Given the description of an element on the screen output the (x, y) to click on. 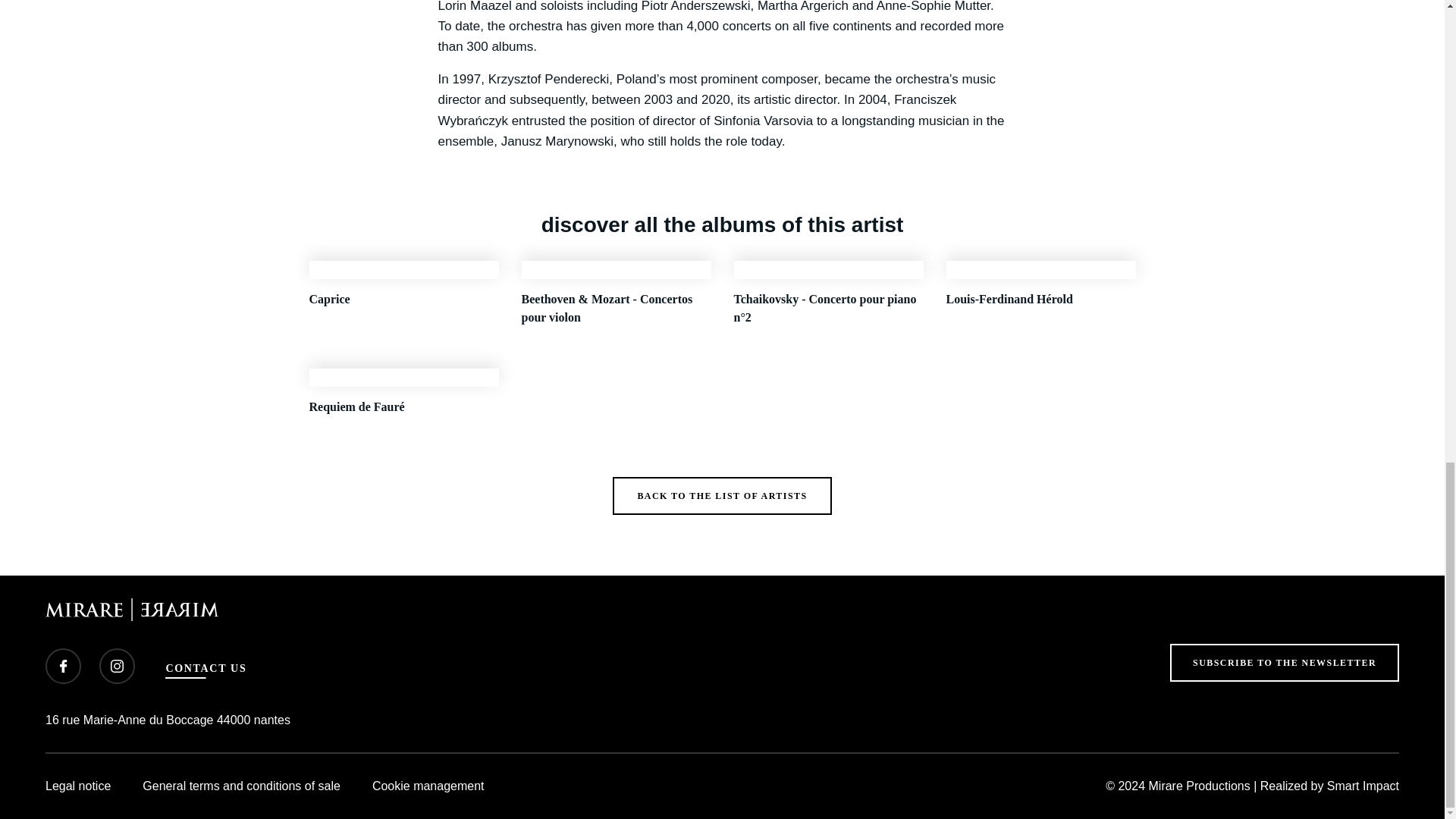
BACK TO THE LIST OF ARTISTS (721, 495)
CONTACT US (205, 669)
Smart Impact (1362, 785)
Caprice (403, 293)
Cookie management (428, 785)
E-commerce agency Nantes (1362, 785)
SUBSCRIBE TO THE NEWSLETTER (1284, 662)
Legal notice (77, 785)
General terms and conditions of sale (241, 785)
